Given the description of an element on the screen output the (x, y) to click on. 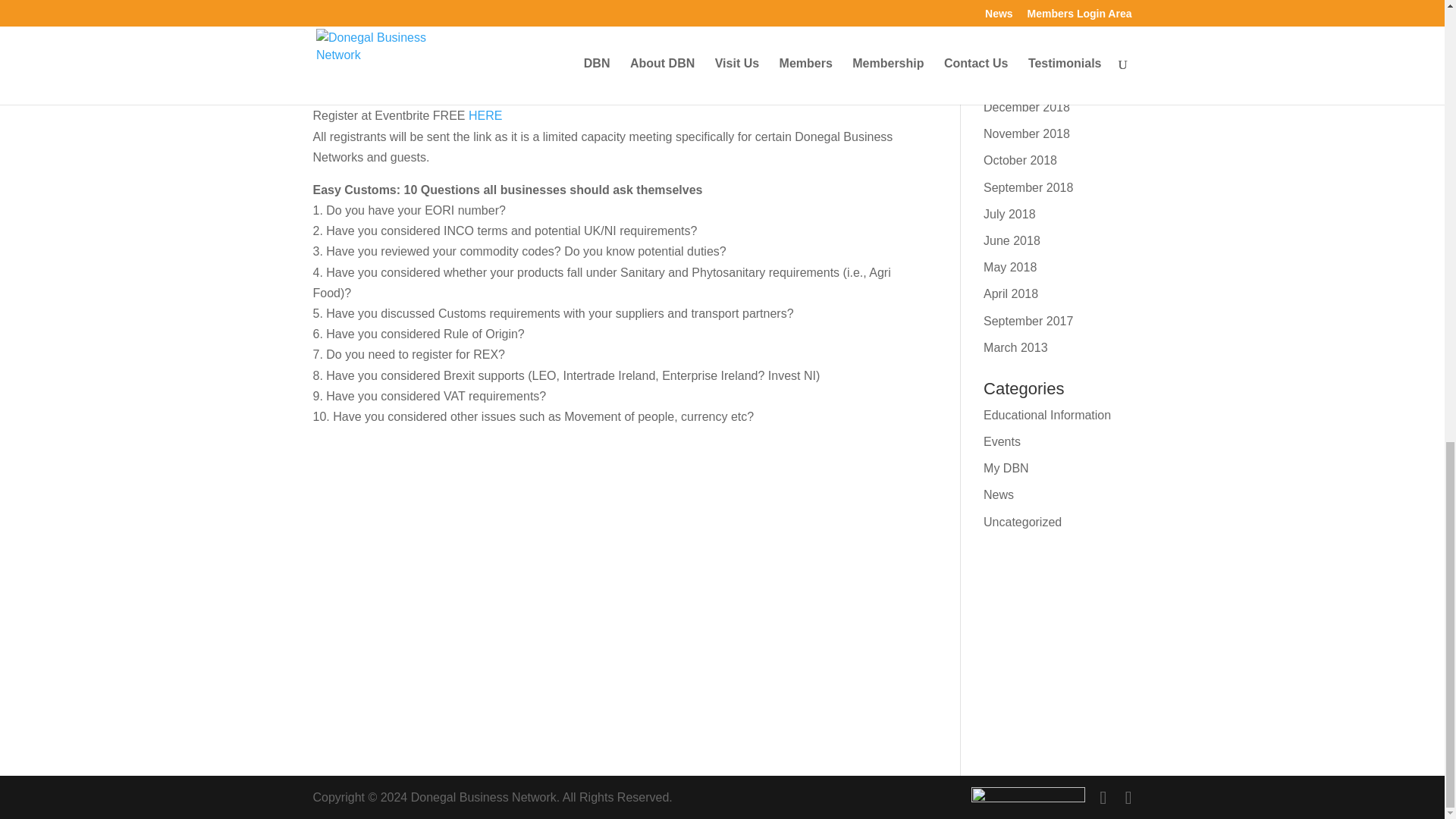
September 2019 (1028, 3)
February 2019 (1023, 53)
June 2019 (1012, 26)
HERE (485, 115)
MeanIT Web Partners Donegal Ireland (1027, 797)
